Given the description of an element on the screen output the (x, y) to click on. 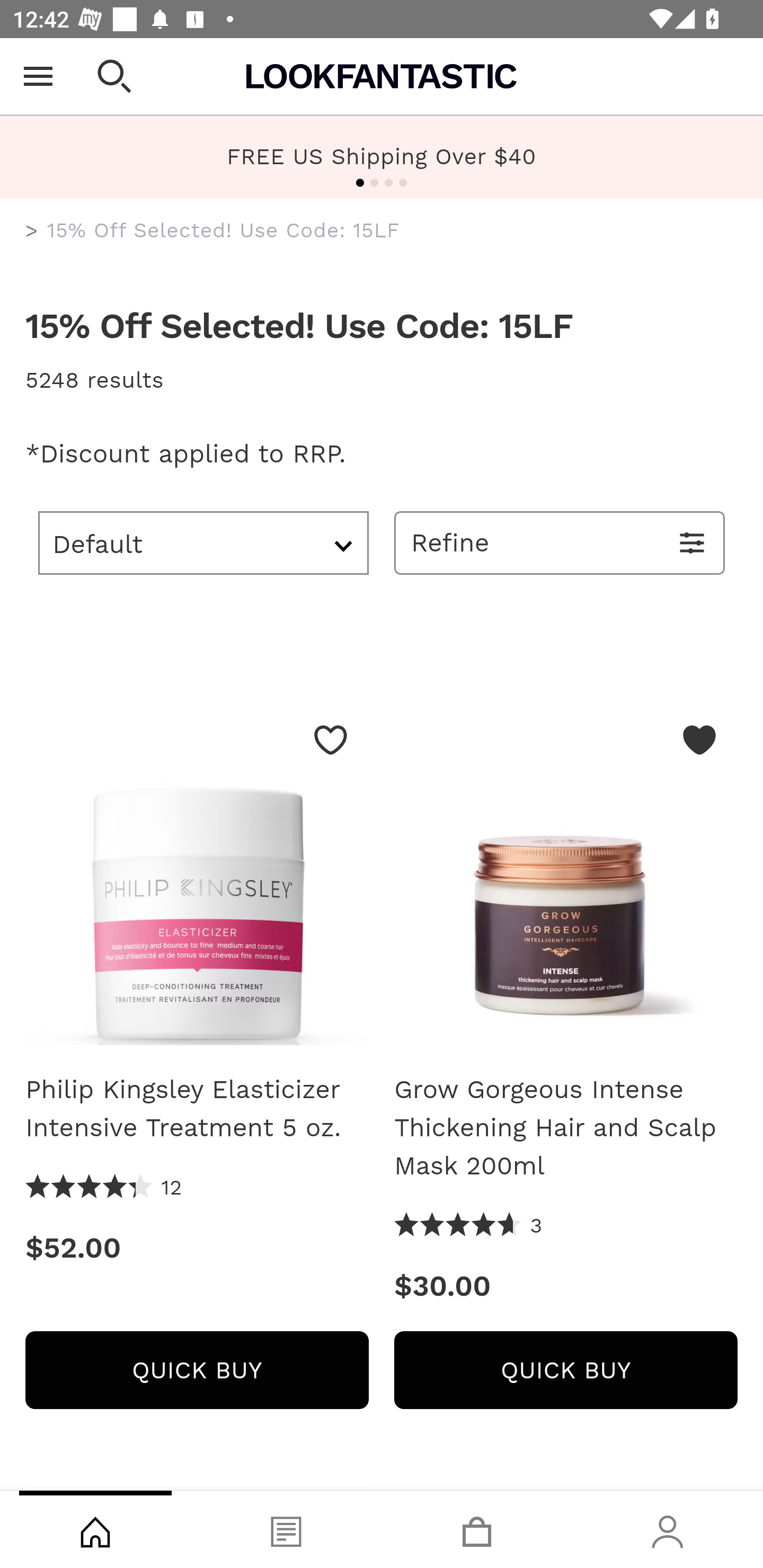
Open Menu (38, 75)
Open search (114, 75)
Lookfantastic USA (381, 75)
FREE US Shipping Over $40 (381, 157)
FREE US Shipping Over $40 (381, 155)
us.lookfantastic (32, 230)
Default (203, 542)
Refine (559, 542)
Save to Wishlist (330, 740)
Saved to Wishlist (698, 740)
4.33 Stars 12 Reviews (104, 1187)
4.67 Stars 3 Reviews (468, 1225)
Price: $52.00 (196, 1247)
Price: $30.00 (565, 1286)
Shop, tab, 1 of 4 (95, 1529)
Blog, tab, 2 of 4 (285, 1529)
Basket, tab, 3 of 4 (476, 1529)
Account, tab, 4 of 4 (667, 1529)
